Given the description of an element on the screen output the (x, y) to click on. 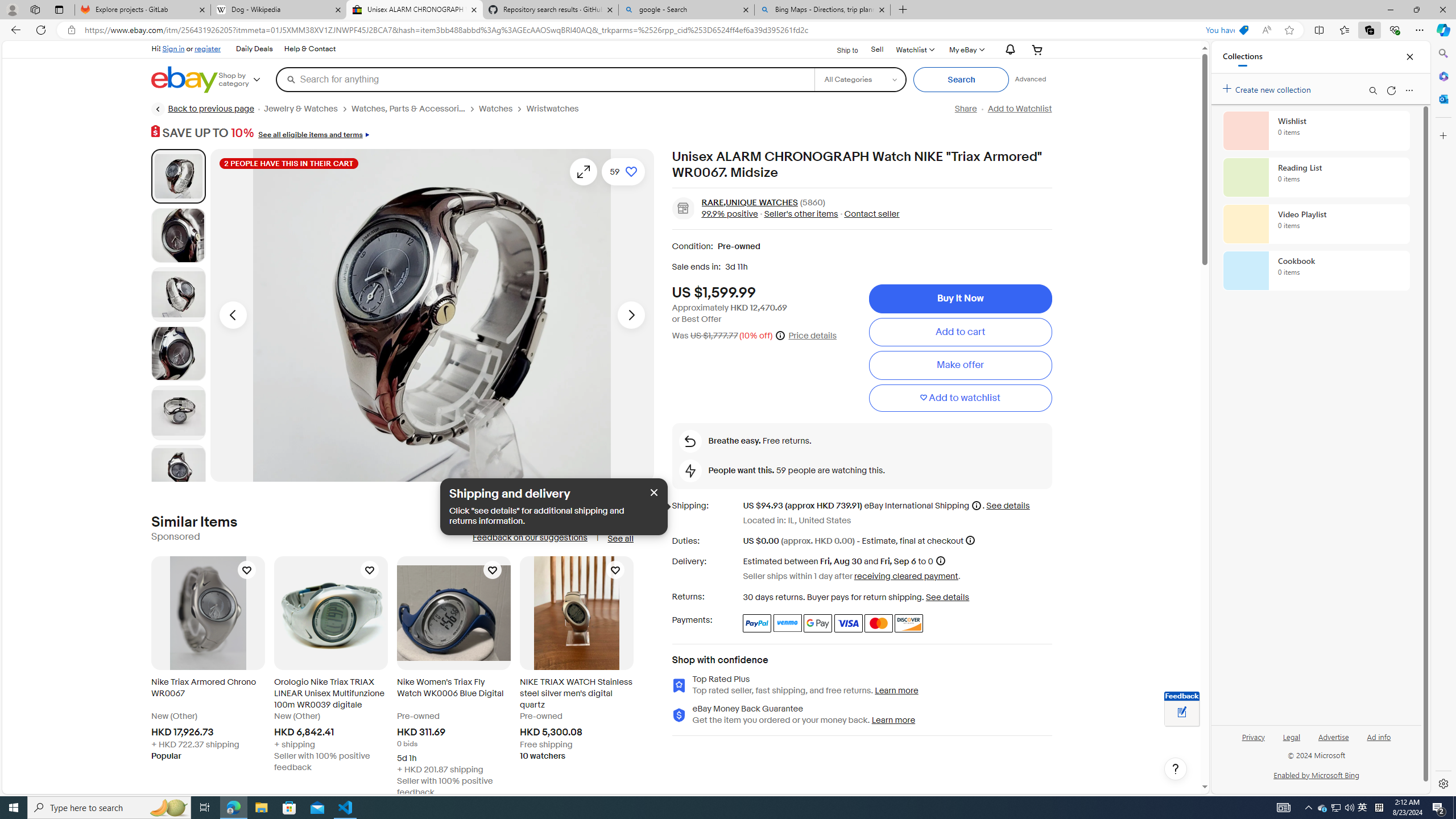
Picture 2 of 18 (178, 234)
(5860) (812, 202)
Class: icon-btn (583, 171)
Feedback on our suggestions (529, 536)
Back to previous page (202, 109)
Buy It Now (959, 298)
Ship to (839, 50)
Venmo (787, 623)
Expand Cart (1037, 49)
receiving cleared payment (905, 575)
More information (969, 540)
